Given the description of an element on the screen output the (x, y) to click on. 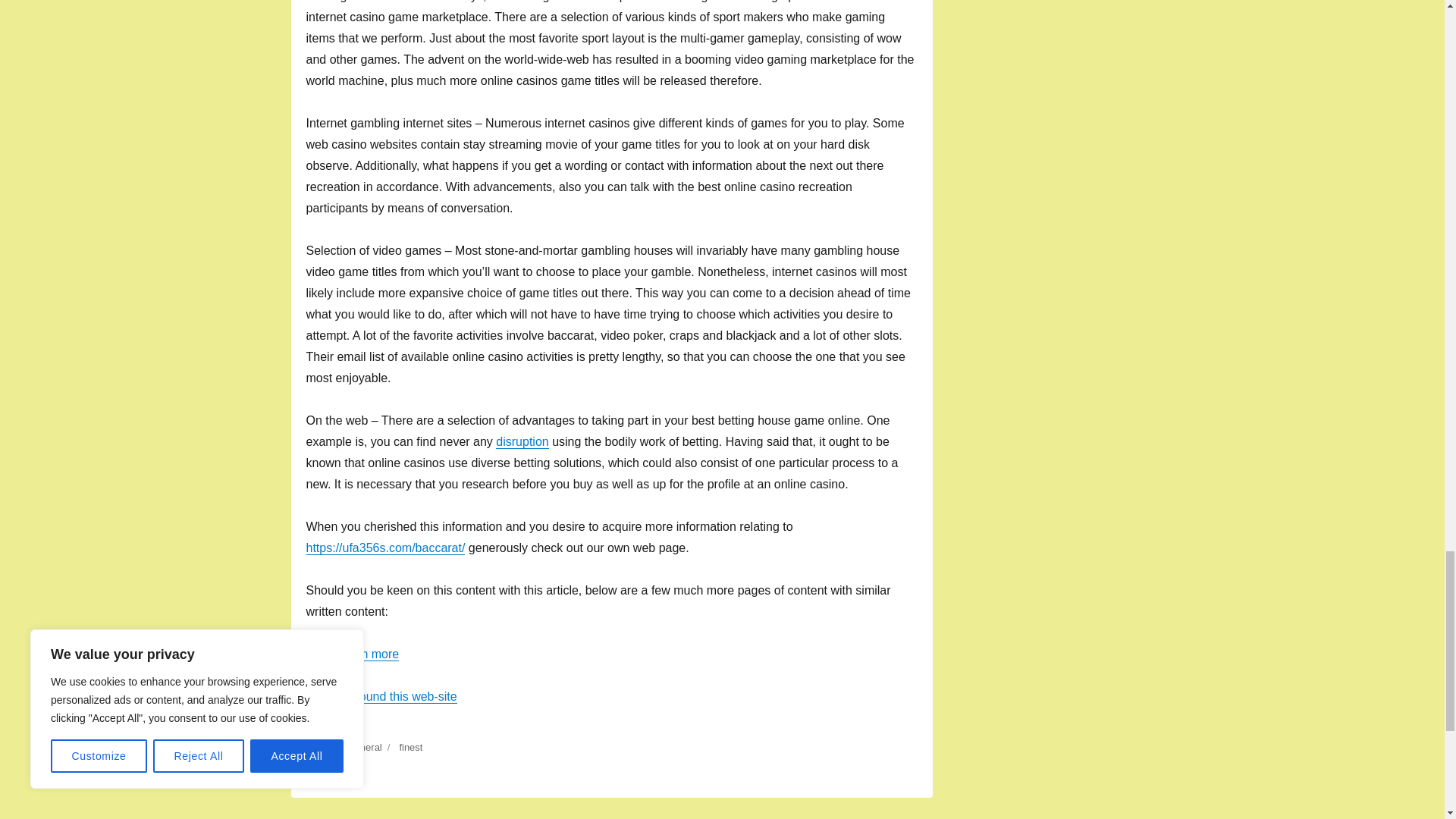
Read Much more (351, 653)
finest (410, 747)
General (364, 747)
browse around this web-site (381, 696)
disruption (522, 440)
